Given the description of an element on the screen output the (x, y) to click on. 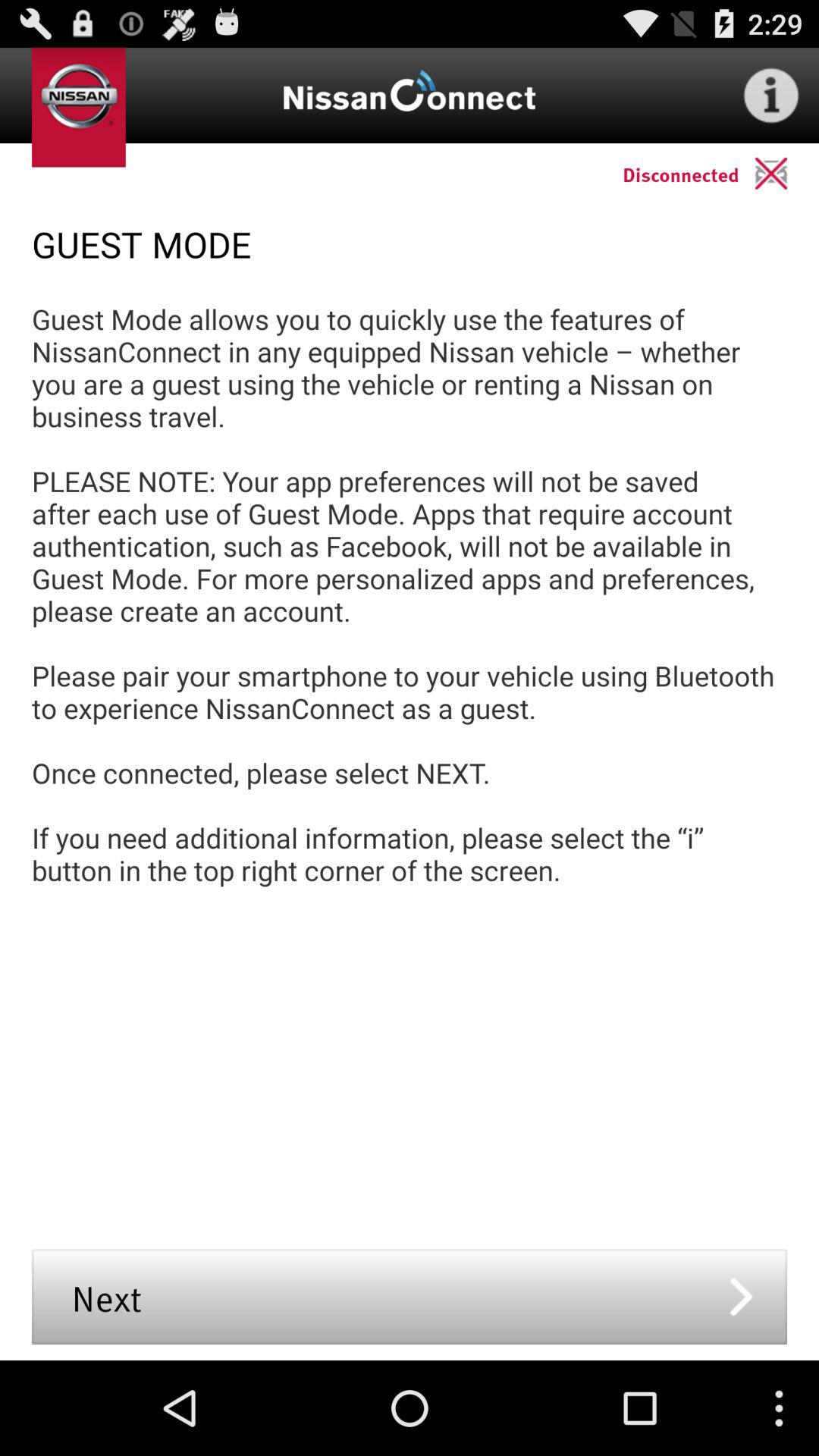
select icon next to the disconnected icon (787, 173)
